Given the description of an element on the screen output the (x, y) to click on. 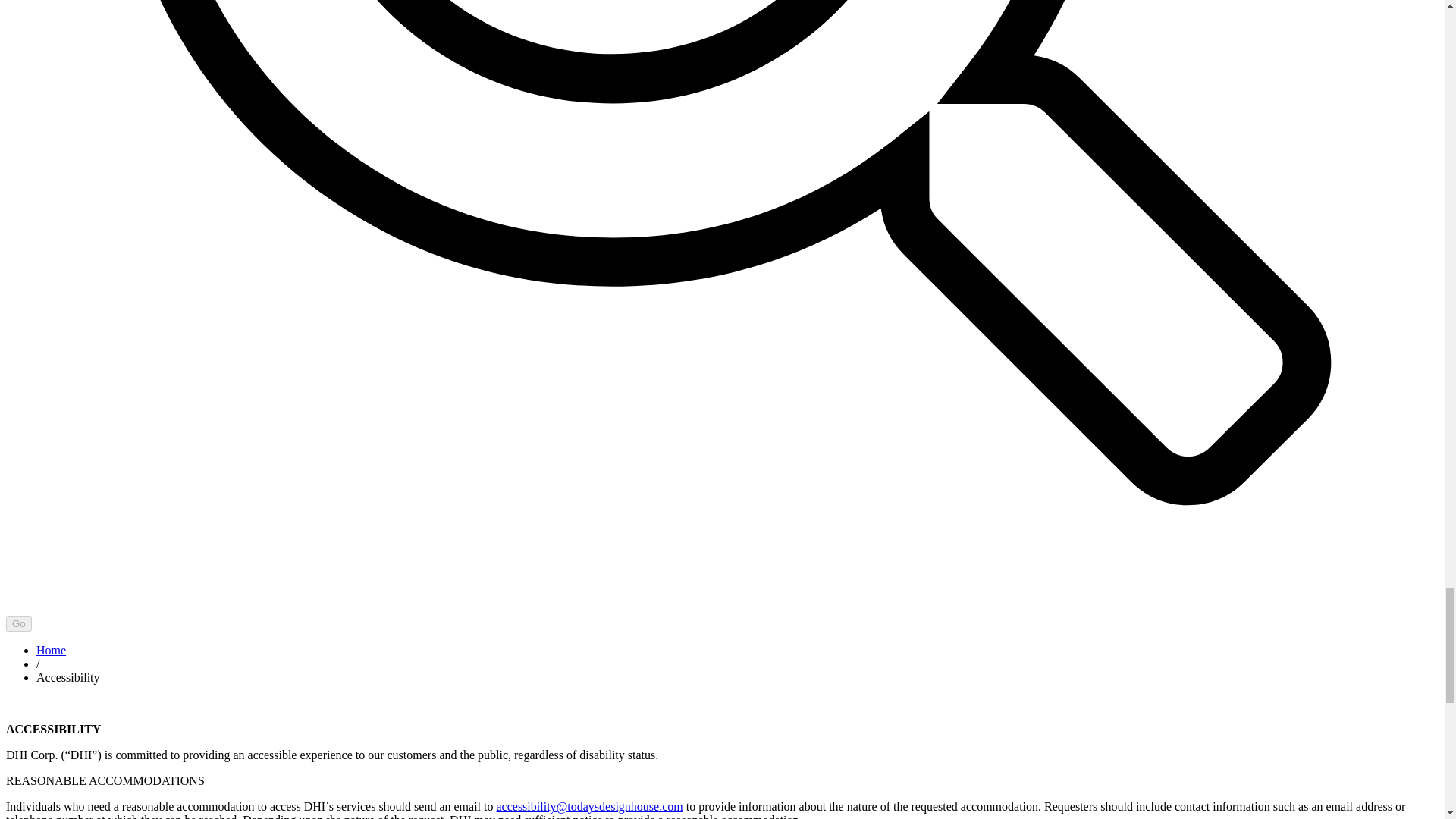
Go (18, 623)
Home (50, 649)
